Given the description of an element on the screen output the (x, y) to click on. 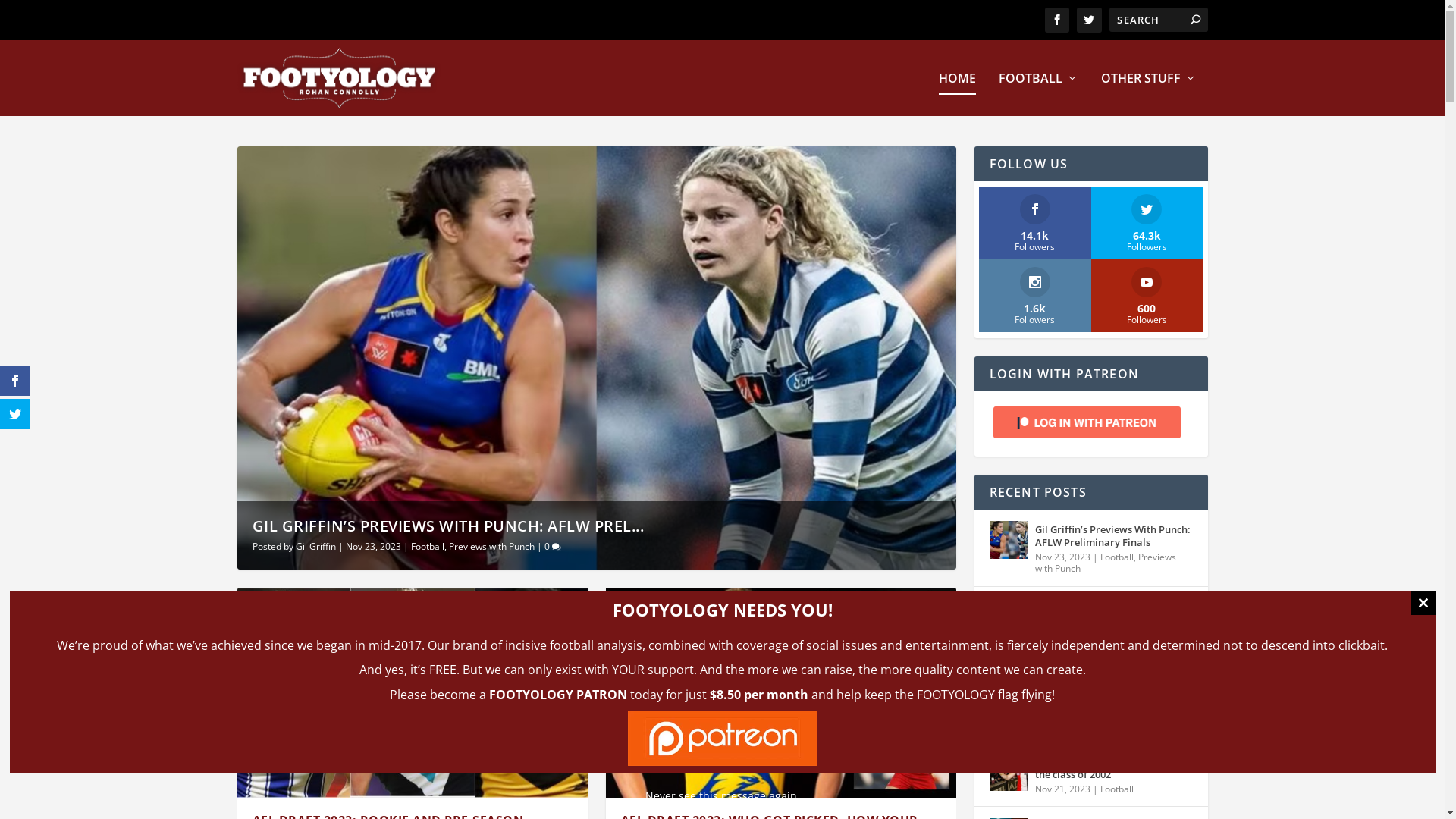
Previews with Punch Element type: text (491, 545)
Previews with Punch Element type: text (1104, 562)
Football Element type: text (427, 545)
FOOTBALL Element type: text (1037, 94)
CLOSE THIS MODULE Element type: text (1422, 602)
Search for: Element type: hover (1157, 19)
AFL Draft 2023: Rookie and Pre-Season Drafts Element type: hover (1007, 617)
Football Element type: text (1050, 645)
AFL Draft 2023: Rookie and Pre-Season Drafts Element type: hover (411, 692)
Football Element type: text (1050, 722)
Footyology Redraft: Revisiting the class of 2002 Element type: hover (1007, 771)
Footyology Redraft: Revisiting the class of 2002 Element type: text (1113, 768)
OTHER STUFF Element type: text (1148, 94)
HOME Element type: text (956, 94)
AFL Draft 2023: Who got picked, how your club fared Element type: text (1113, 690)
Football Element type: text (1115, 556)
1.6k
Followers Element type: text (1035, 295)
comment count Element type: hover (556, 547)
Behind the News Element type: text (1134, 633)
AFL Draft 2023: Who got picked, how your club fared Element type: hover (780, 692)
64.3k
Followers Element type: text (1147, 222)
Gil Griffin Element type: text (315, 545)
0 Element type: text (552, 545)
600
Followers Element type: text (1147, 295)
Never see this message again. Element type: text (721, 795)
Football Element type: text (1115, 788)
AFL Draft 2023: Rookie and Pre-Season Drafts Element type: text (1113, 613)
Behind the News Element type: text (1134, 711)
AFL Draft 2023: Who got picked, how your club fared Element type: hover (1007, 694)
14.1k
Followers Element type: text (1035, 222)
